Given the description of an element on the screen output the (x, y) to click on. 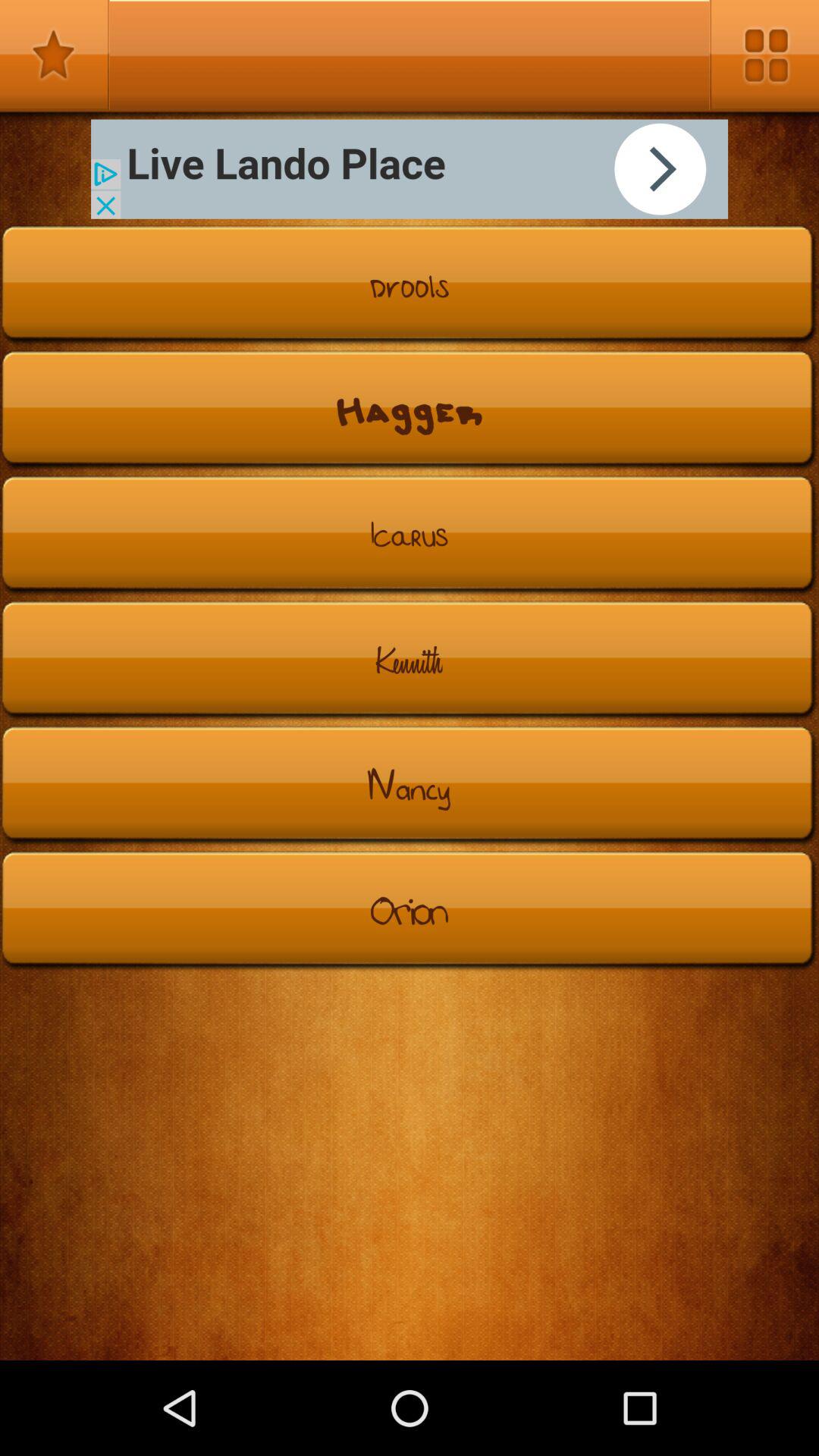
advertisement favardice (54, 54)
